Given the description of an element on the screen output the (x, y) to click on. 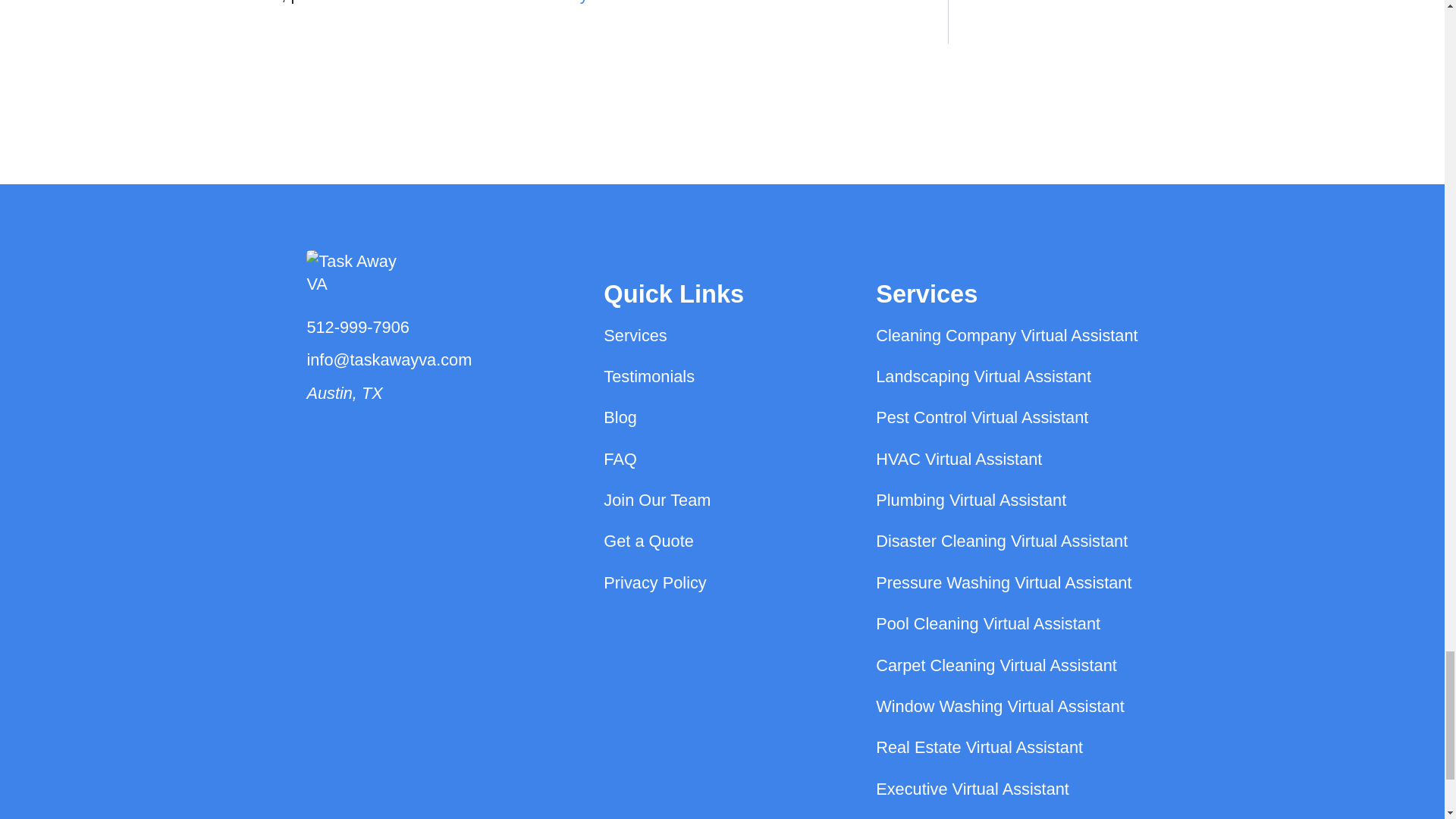
512-999-7906 (388, 327)
Services (635, 334)
Home (388, 280)
Blog (620, 416)
Task Away Virtual Assistants (622, 2)
Testimonials (649, 375)
